Given the description of an element on the screen output the (x, y) to click on. 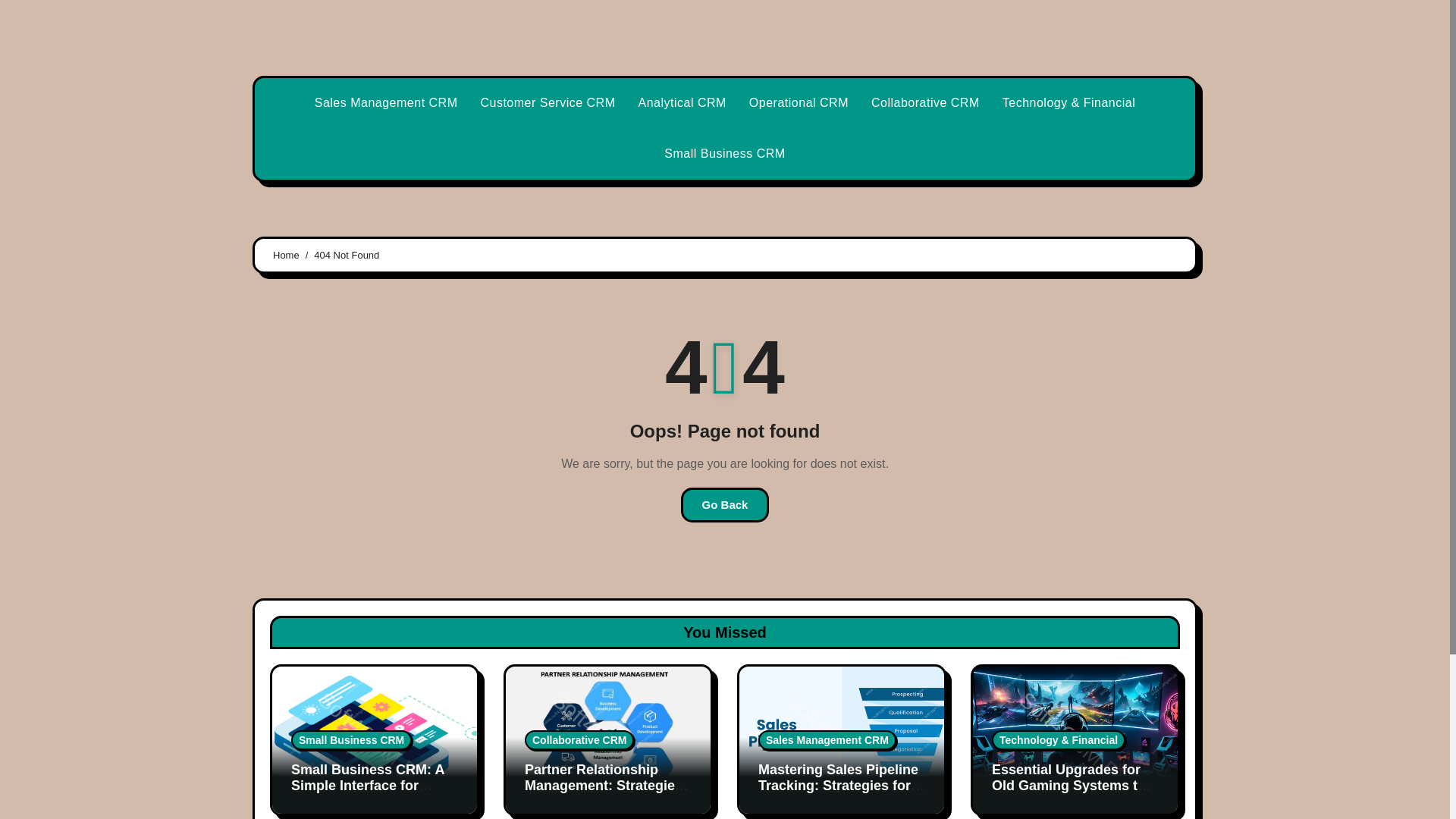
Sales Management CRM (385, 102)
Small Business CRM (724, 153)
Small Business CRM (724, 153)
Analytical CRM (681, 102)
Collaborative CRM (925, 102)
Home (286, 255)
Operational CRM (799, 102)
Sales Management CRM (827, 740)
